Given the description of an element on the screen output the (x, y) to click on. 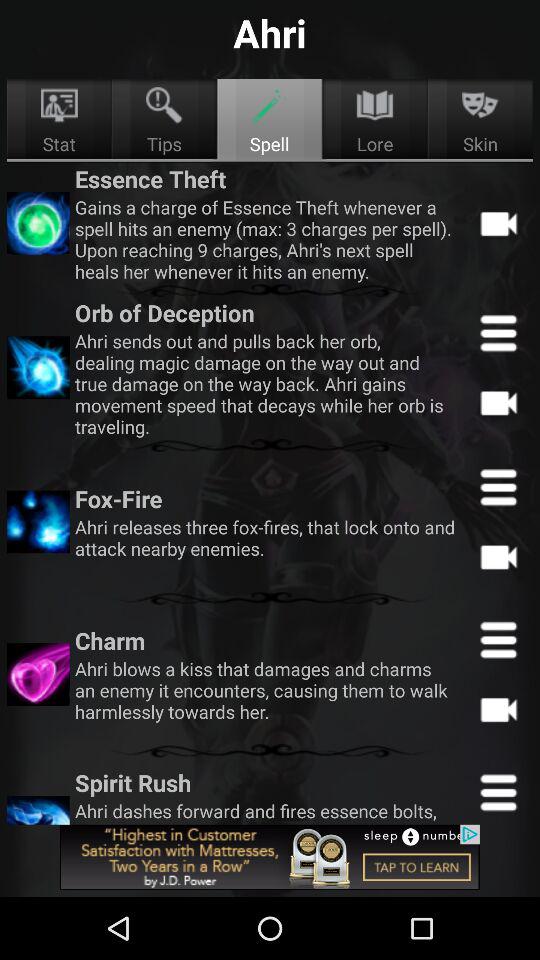
play video (498, 709)
